Given the description of an element on the screen output the (x, y) to click on. 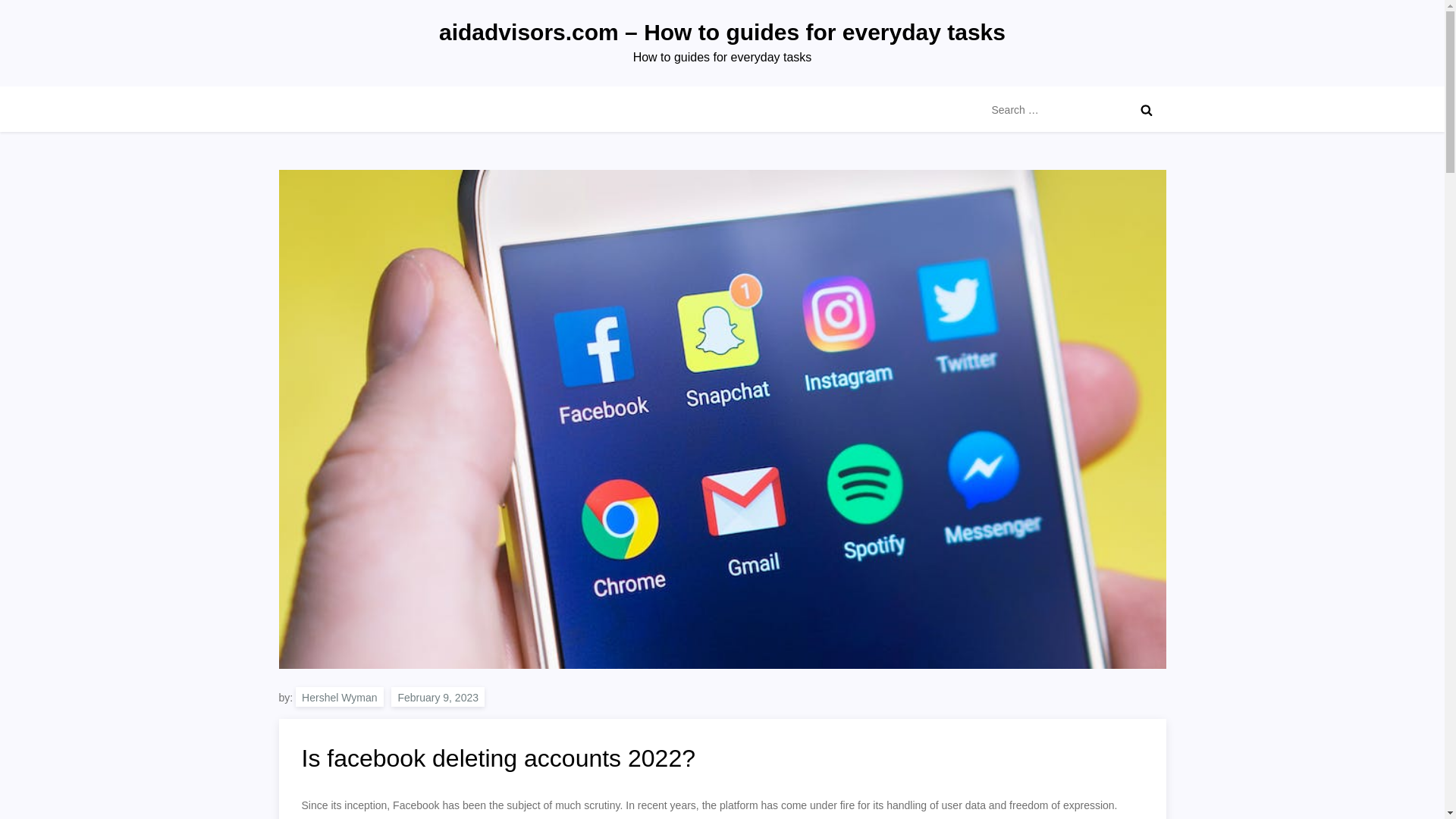
Hershel Wyman (338, 696)
February 9, 2023 (437, 696)
